Given the description of an element on the screen output the (x, y) to click on. 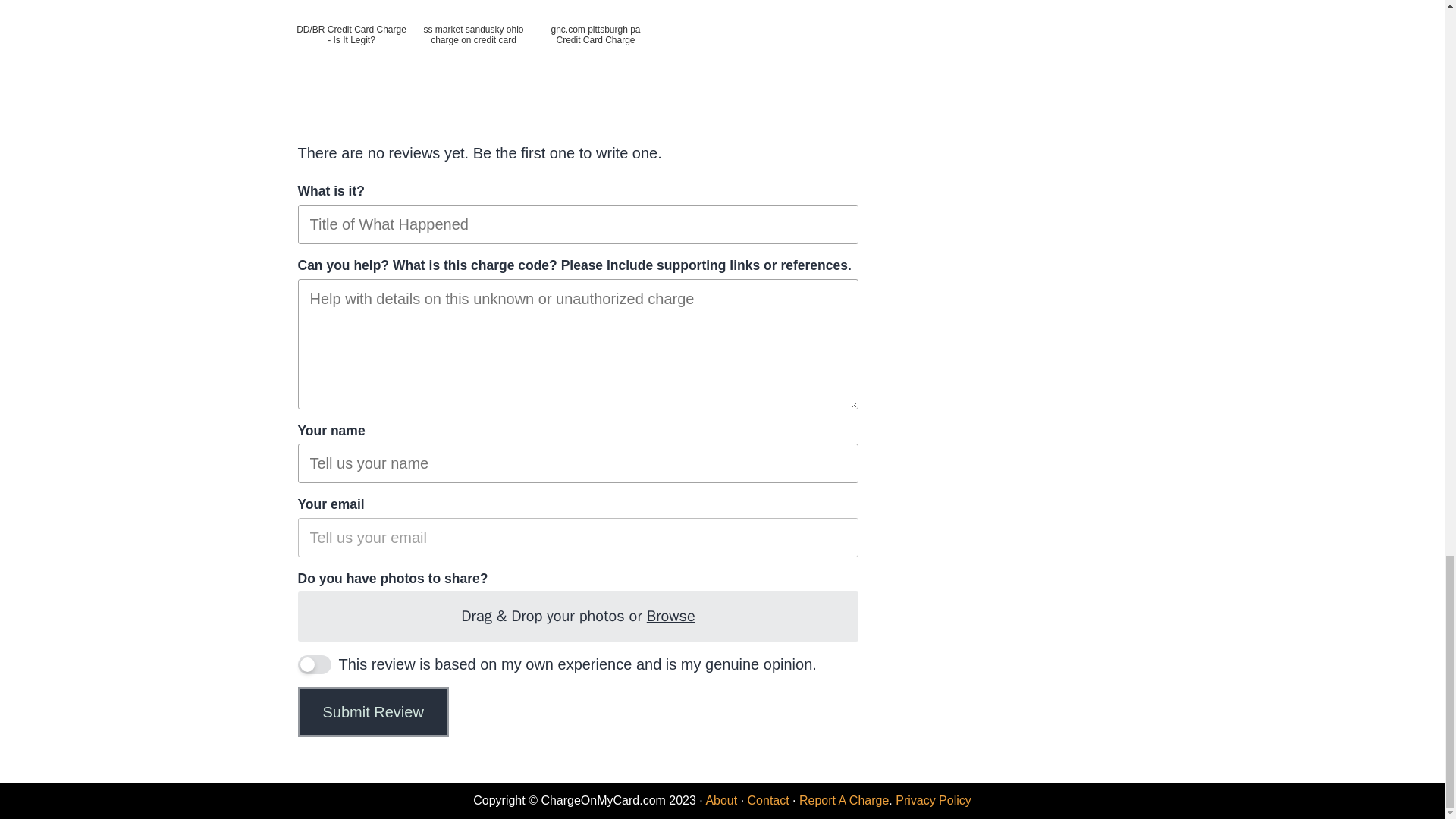
Report A Charge (843, 799)
Privacy Policy (933, 799)
Contact (768, 799)
ss market sandusky ohio charge on credit card (473, 41)
gnc.com pittsburgh pa Credit Card Charge (595, 41)
1 (313, 664)
Submit Review (372, 712)
About (720, 799)
